Given the description of an element on the screen output the (x, y) to click on. 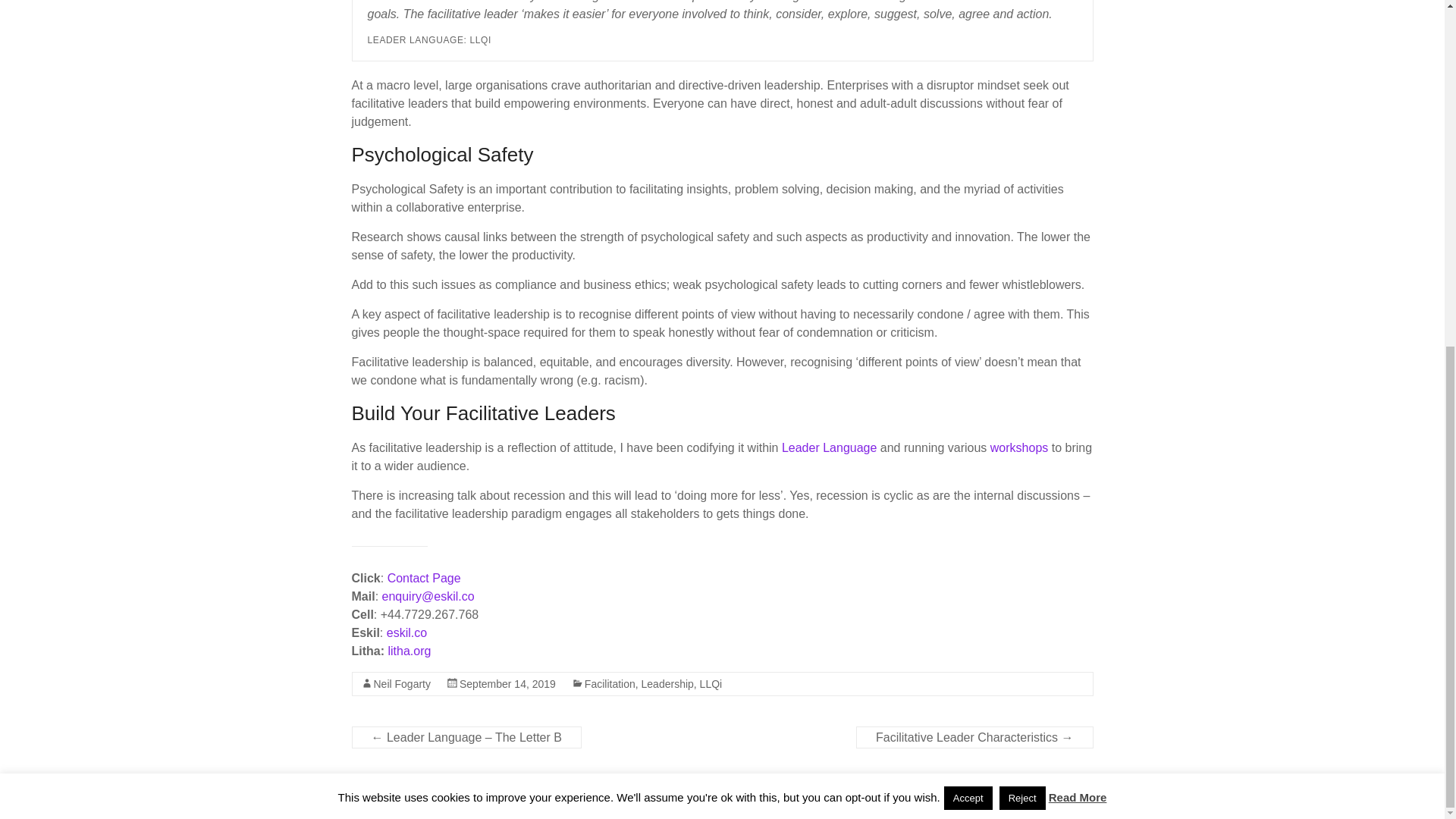
Spacious (604, 790)
Neil Fogarty (449, 790)
Neil Fogarty (449, 790)
September 14, 2019 (508, 684)
Facilitation (609, 684)
Contact Page (424, 577)
Accept (967, 203)
eskil.co (406, 632)
Neil Fogarty (400, 684)
WordPress (426, 804)
workshops (1019, 447)
Reject (1021, 203)
Leadership (668, 684)
Spacious (604, 790)
Leader Language (828, 447)
